Given the description of an element on the screen output the (x, y) to click on. 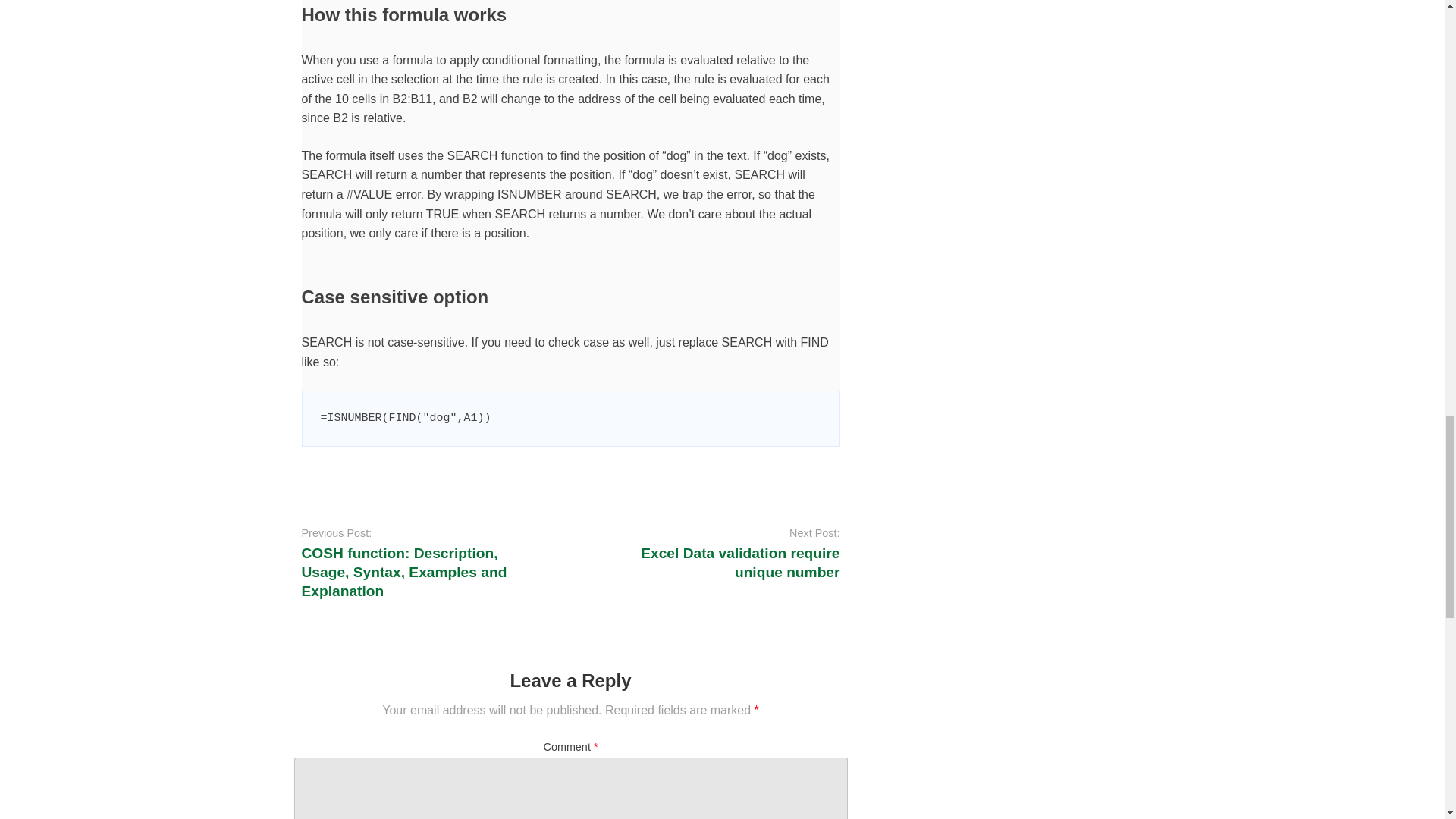
Excel Data validation require unique number (740, 562)
